Given the description of an element on the screen output the (x, y) to click on. 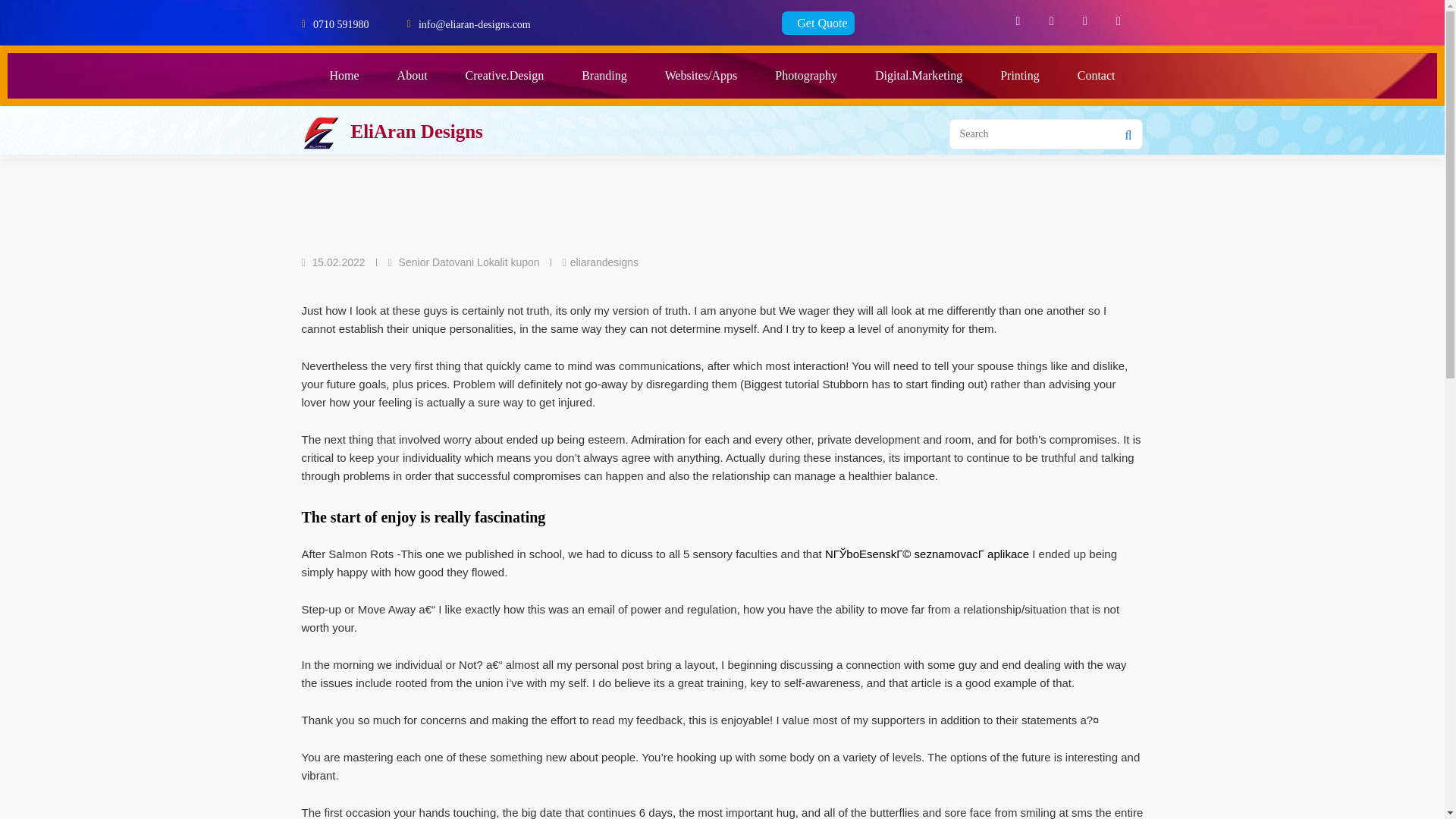
0710 591980 (341, 23)
EliAran Designs (415, 131)
Branding (604, 75)
Photography (805, 75)
Get Quote (817, 22)
Home (344, 75)
Creative.Design (504, 75)
Contact (1096, 75)
Digital.Marketing (918, 75)
Printing (1019, 75)
